Given the description of an element on the screen output the (x, y) to click on. 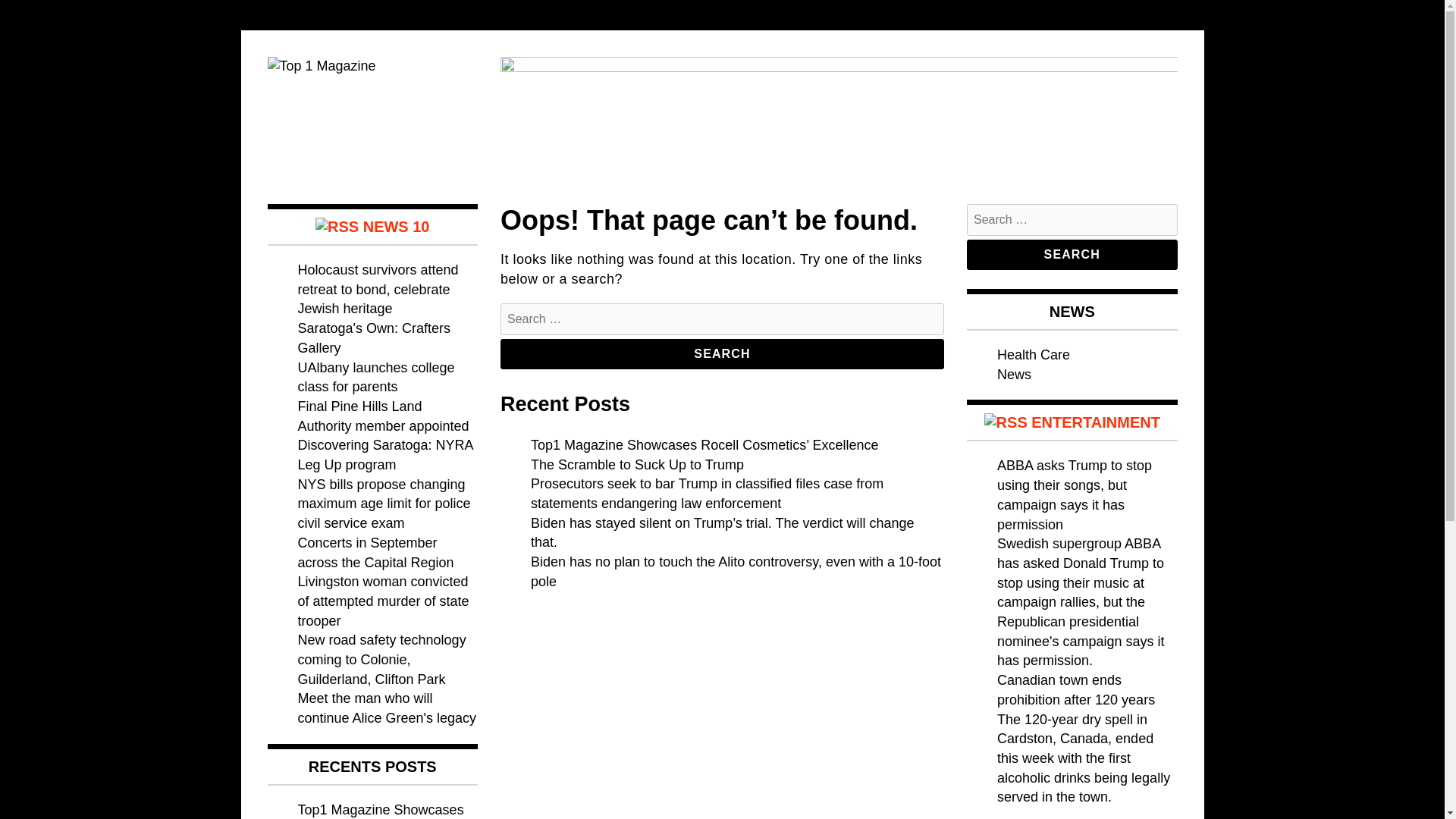
Search (1071, 254)
Search (1071, 254)
UAlbany launches college class for parents (375, 377)
Concerts in September across the Capital Region (374, 552)
Canadian town ends prohibition after 120 years (1075, 689)
Health Care (1033, 354)
Search (721, 354)
NEWS 10 (395, 226)
